Given the description of an element on the screen output the (x, y) to click on. 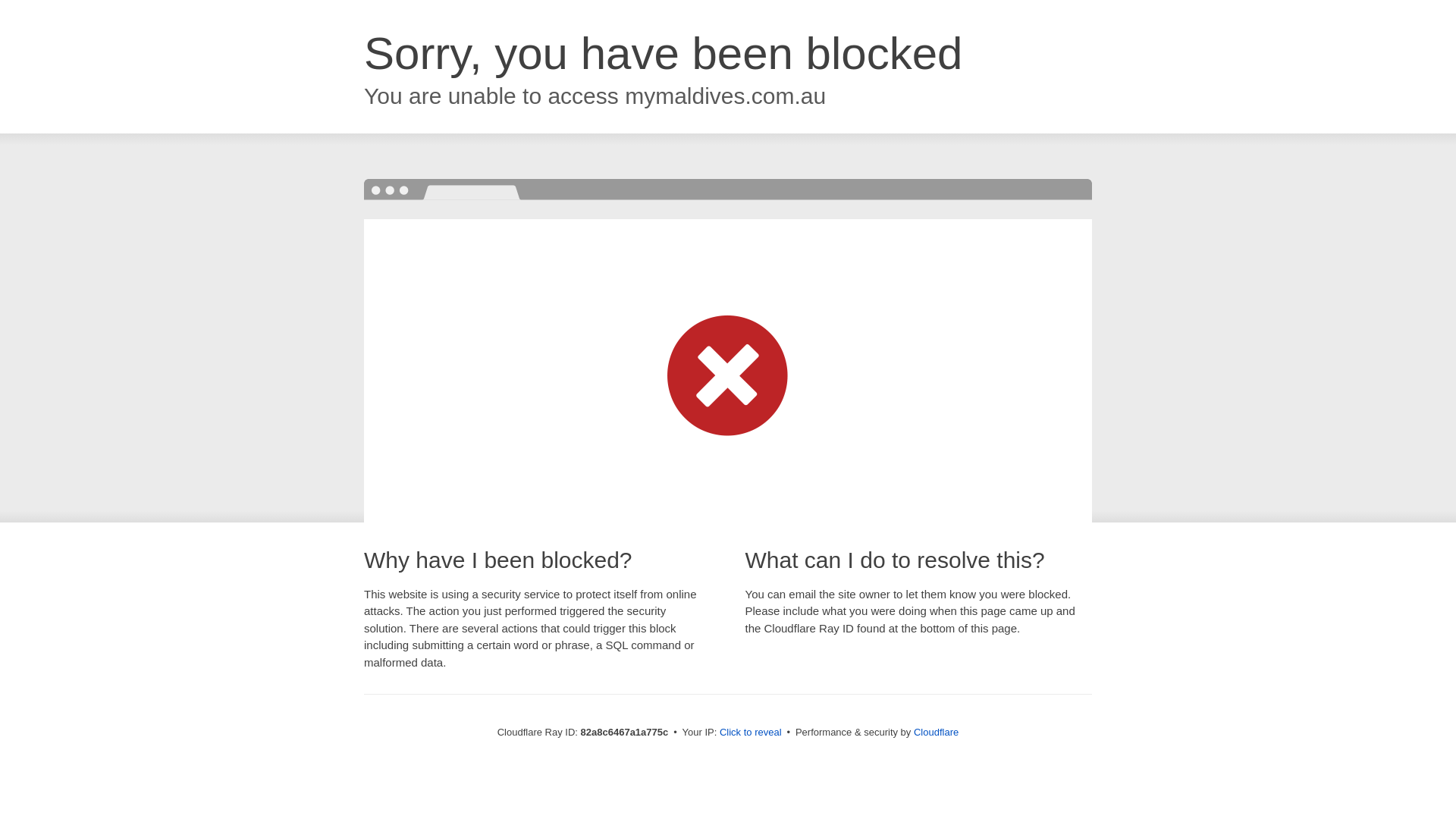
Click to reveal Element type: text (750, 732)
Cloudflare Element type: text (935, 731)
